Given the description of an element on the screen output the (x, y) to click on. 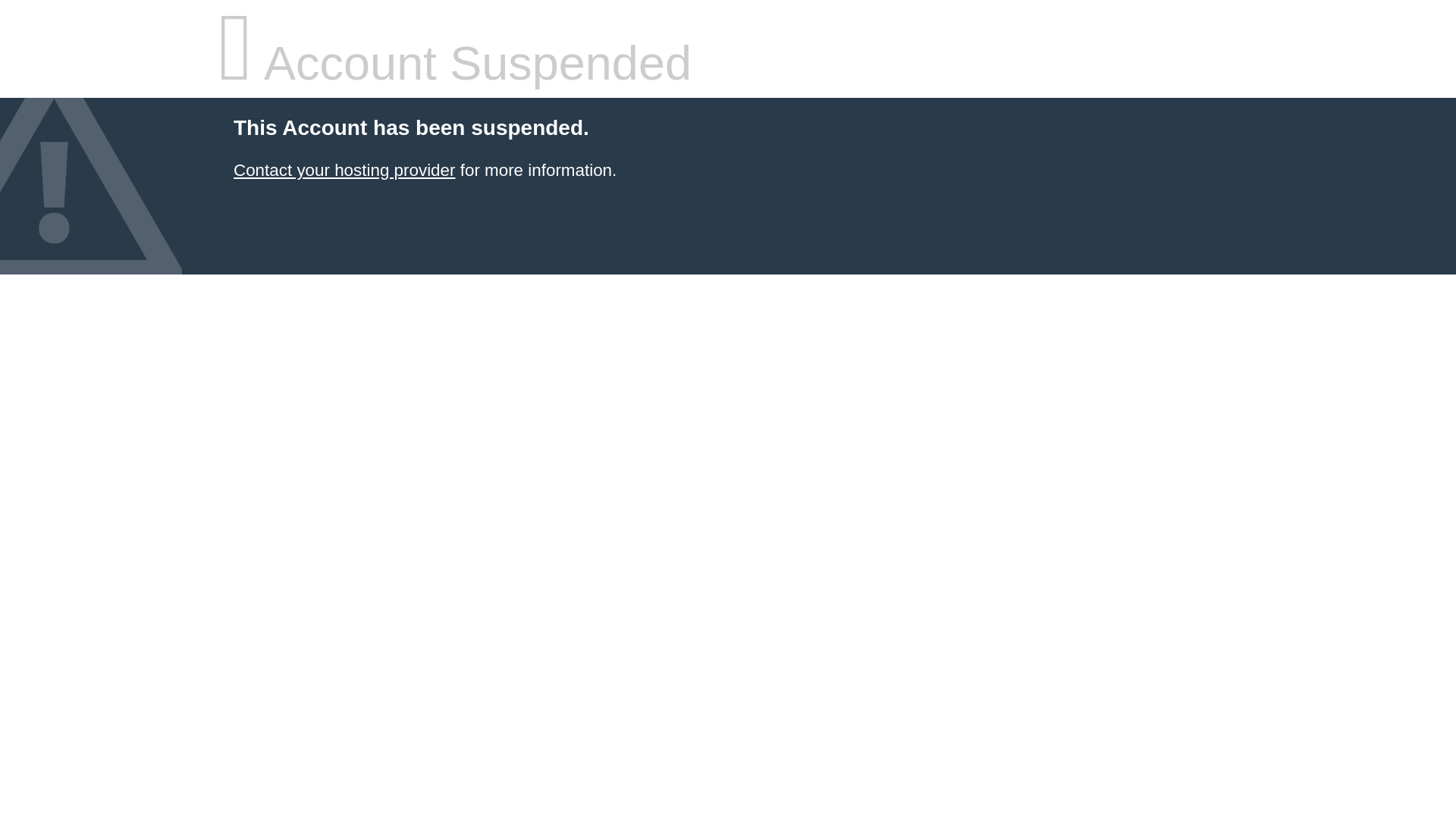
Contact your hosting provider (343, 169)
